Given the description of an element on the screen output the (x, y) to click on. 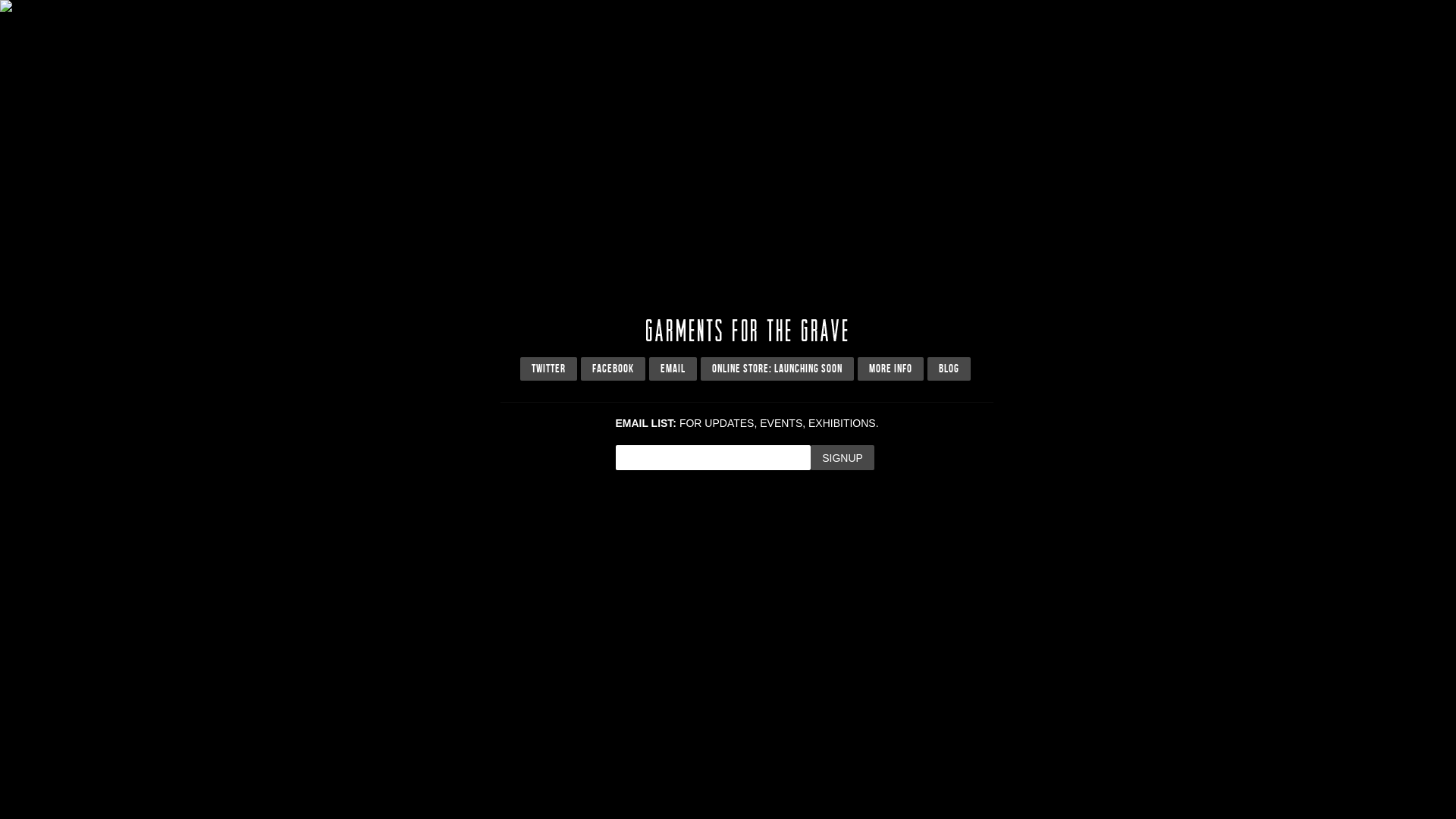
ONLINE STORE: LAUNCHING SOON Element type: text (776, 368)
MORE INFO Element type: text (889, 368)
BLOG Element type: text (947, 368)
FACEBOOK Element type: text (612, 368)
EMAIL Element type: text (672, 368)
Signup Element type: text (842, 457)
TWITTER Element type: text (548, 368)
